Given the description of an element on the screen output the (x, y) to click on. 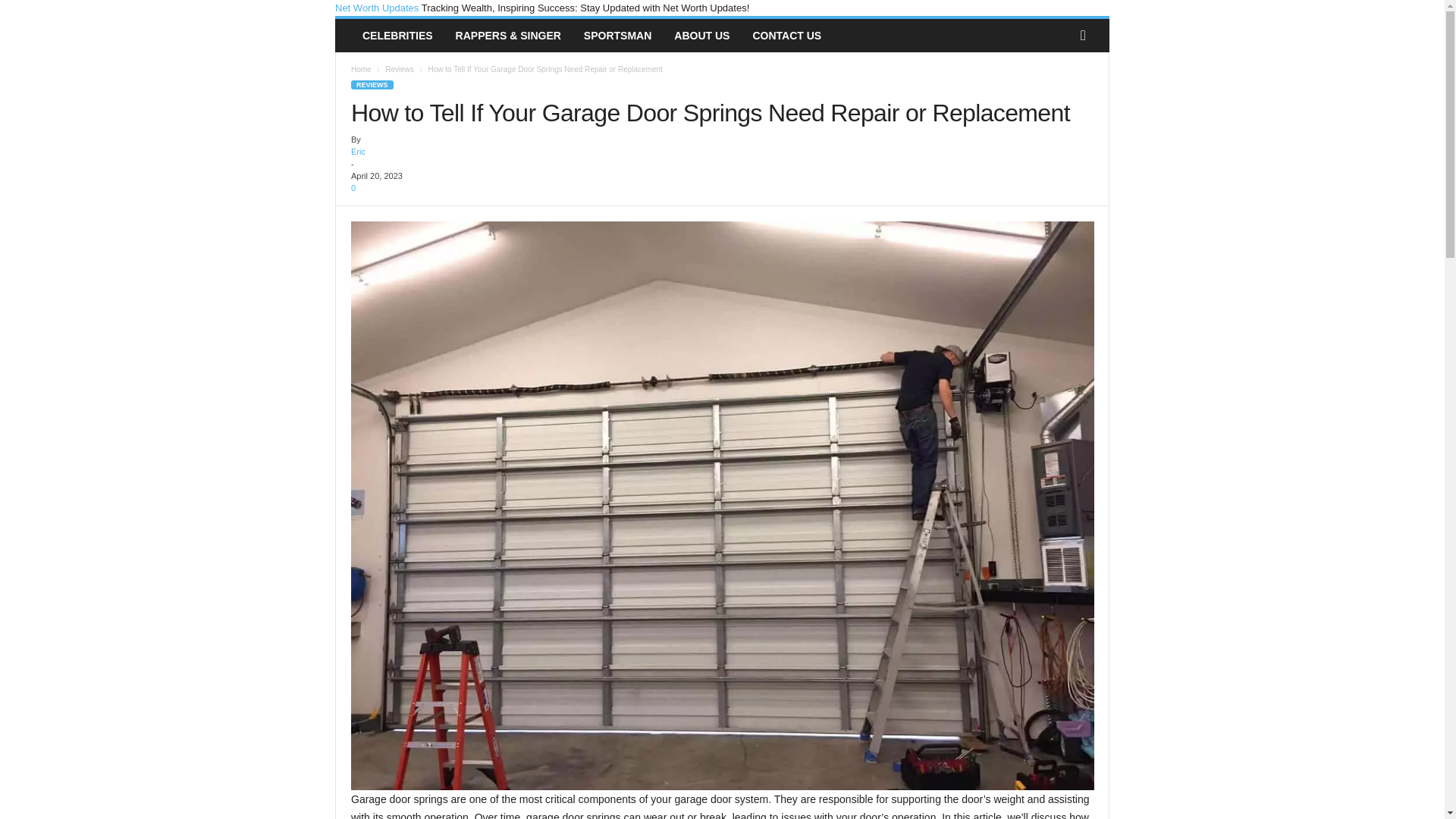
View all posts in Reviews (399, 69)
Home (360, 69)
Reviews (399, 69)
Net Worth Updates (378, 7)
ABOUT US (701, 35)
SPORTSMAN (617, 35)
CONTACT US (786, 35)
REVIEWS (371, 84)
Eric (357, 151)
